Given the description of an element on the screen output the (x, y) to click on. 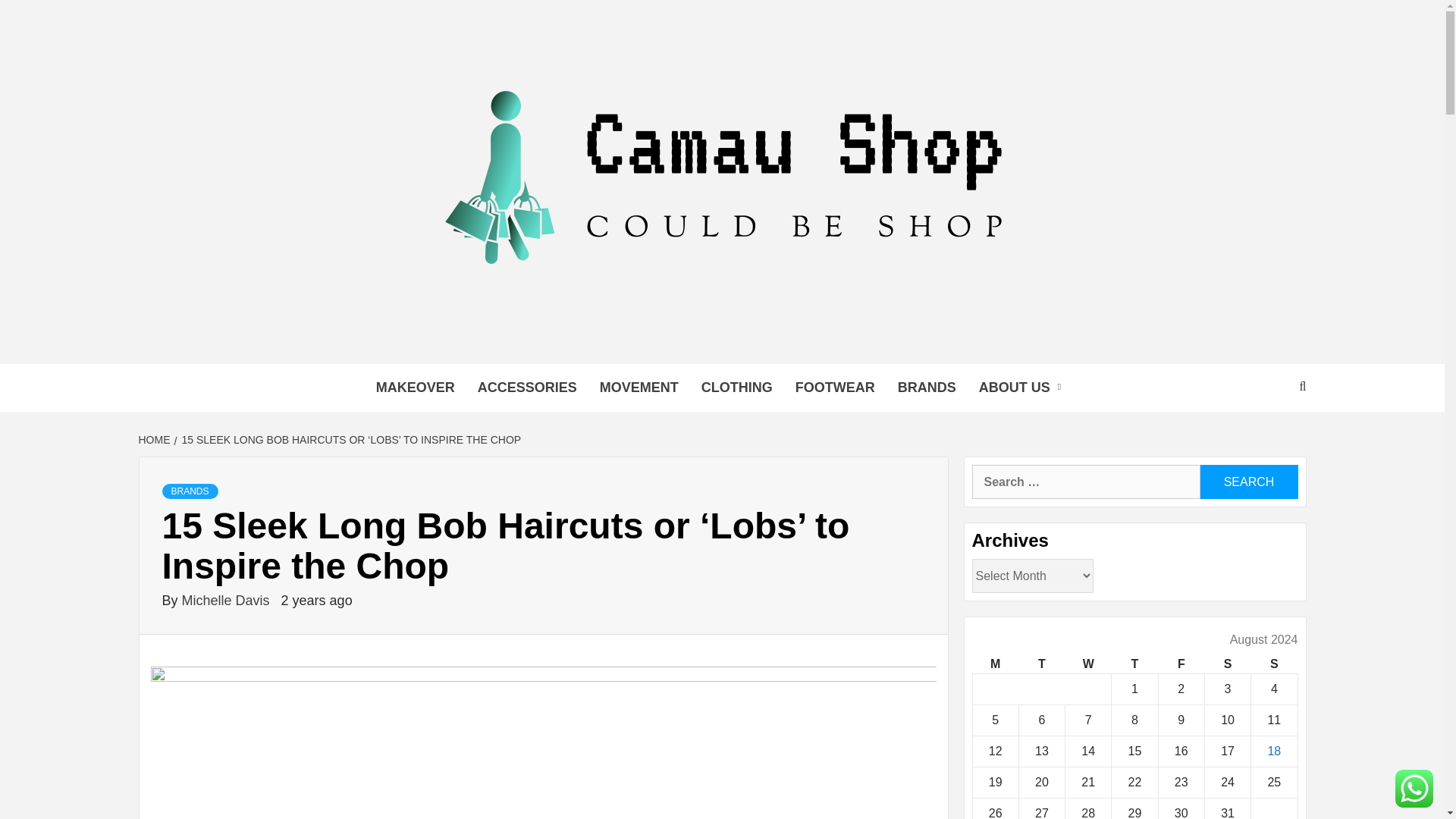
HOME (155, 439)
Michelle Davis (227, 600)
CLOTHING (737, 387)
CAMAU SHOP (400, 369)
Search (1248, 481)
ABOUT US (1024, 387)
MOVEMENT (639, 387)
BRANDS (189, 491)
Search (1248, 481)
ACCESSORIES (526, 387)
